Given the description of an element on the screen output the (x, y) to click on. 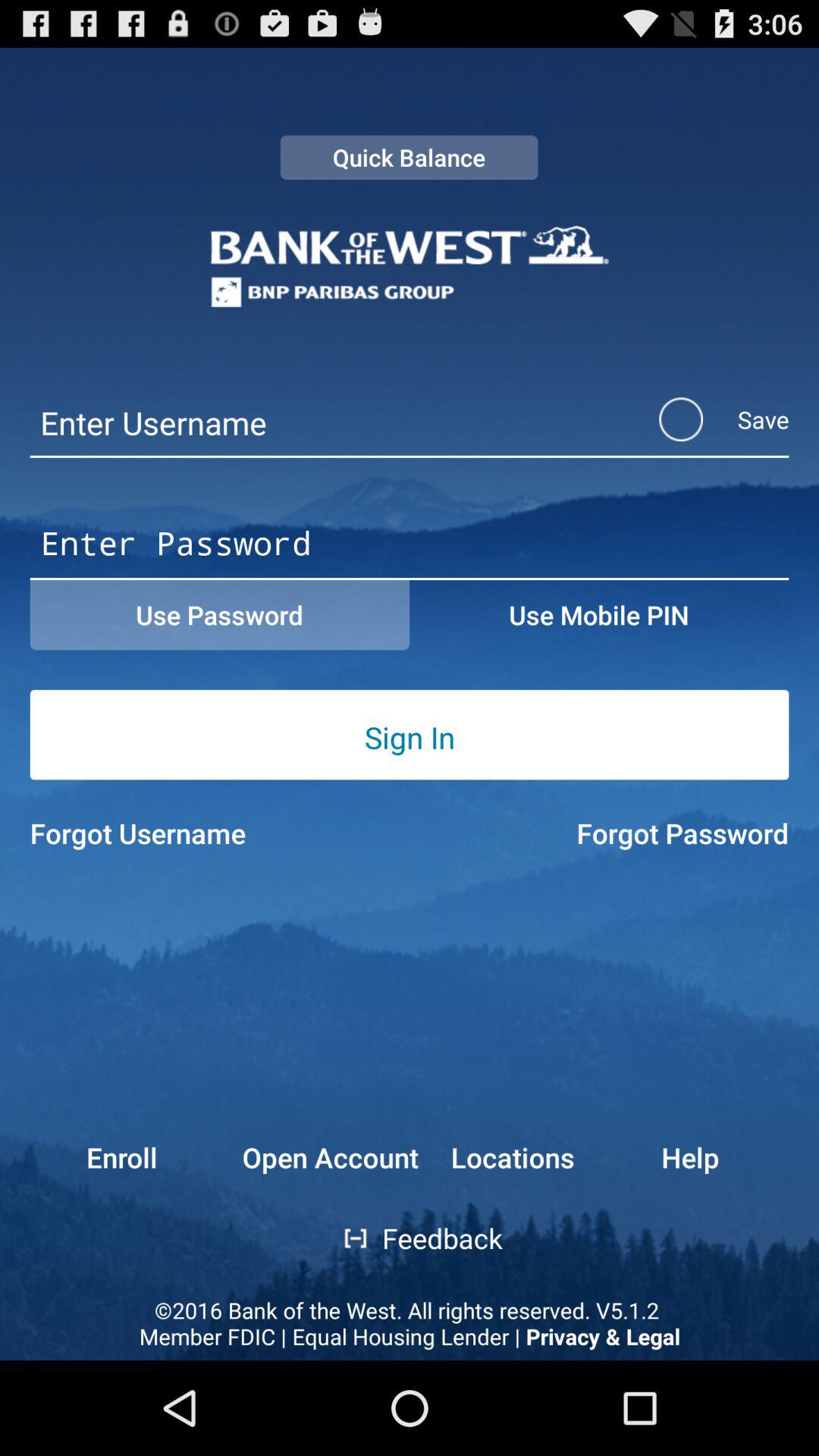
turn on the item above 2016 bank of app (345, 1238)
